Given the description of an element on the screen output the (x, y) to click on. 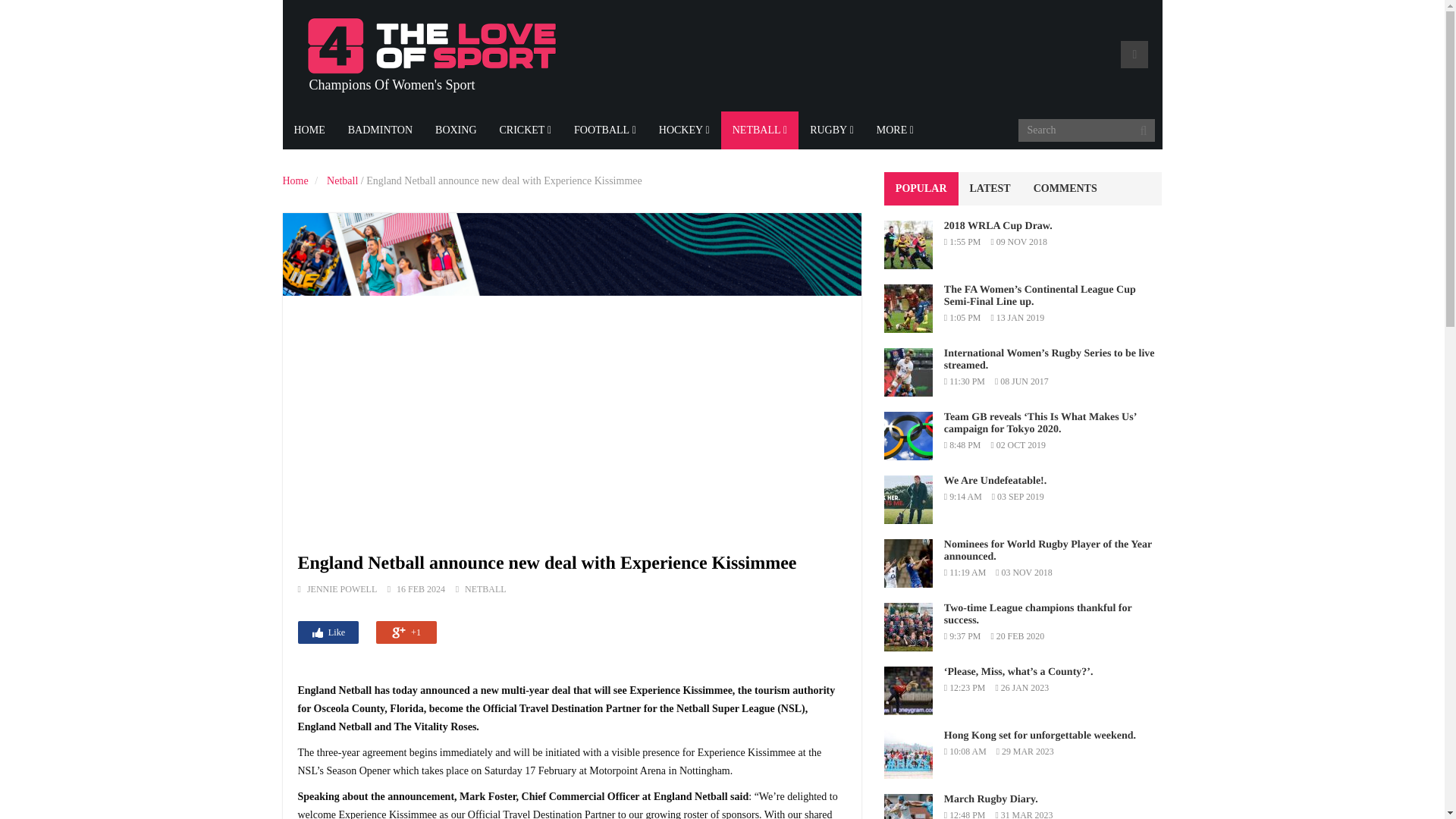
JENNIE POWELL (342, 588)
Netball (342, 180)
NETBALL (758, 130)
FOOTBALL (604, 130)
Posts by Jennie Powell (342, 588)
BOXING (455, 130)
Share on Google Plus (405, 631)
BADMINTON (379, 130)
CRICKET (525, 130)
HOCKEY (683, 130)
